Given the description of an element on the screen output the (x, y) to click on. 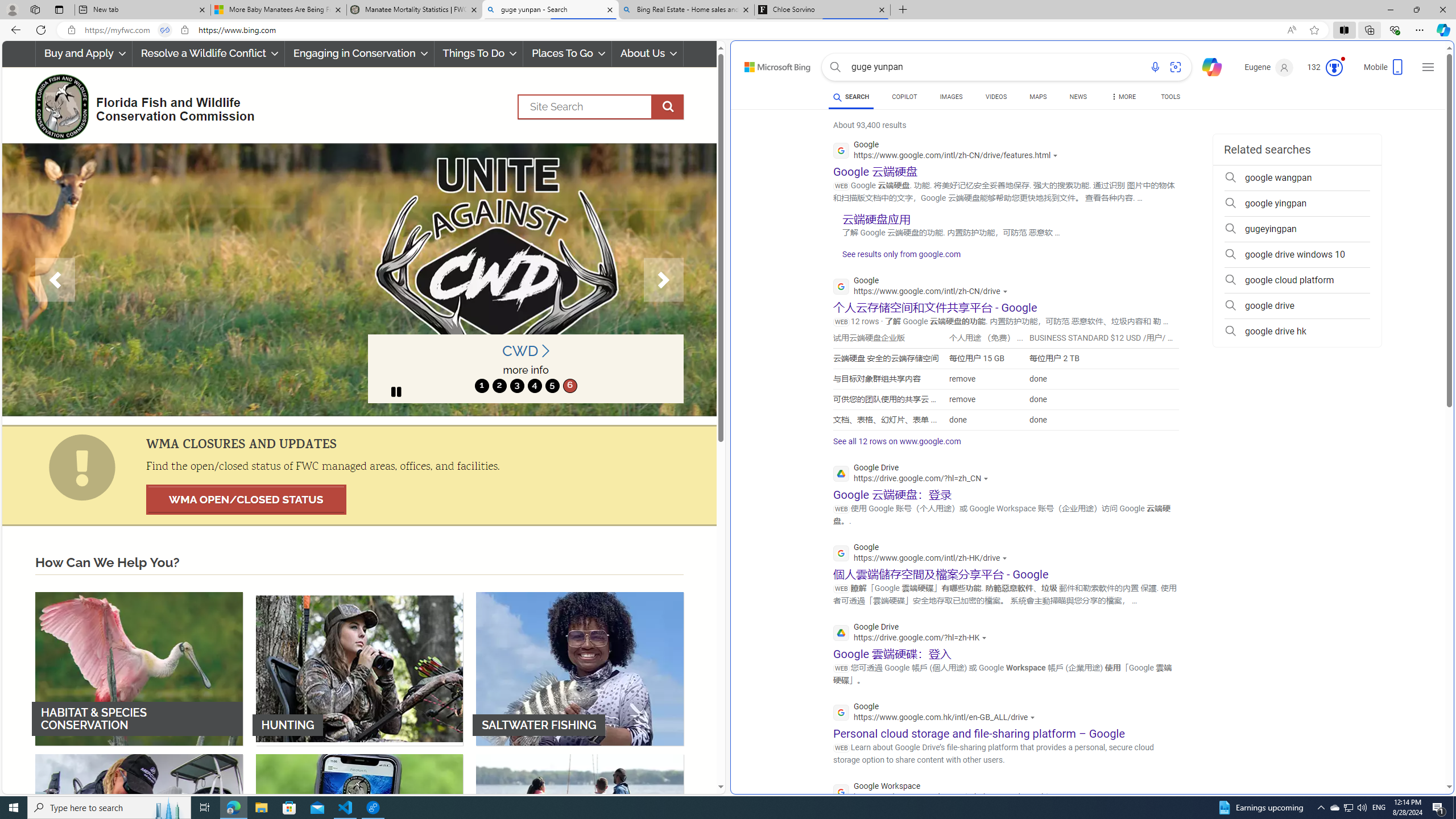
Search using voice (1154, 66)
google yingpan (1297, 203)
COPILOT (903, 96)
6 (569, 385)
Restore (1416, 9)
App bar (728, 29)
Search more (1423, 753)
1 (481, 385)
FWC Logo (61, 106)
Search (835, 66)
AutomationID: mfa_root (1406, 752)
Back to Bing search (770, 64)
Chat (1207, 65)
